Given the description of an element on the screen output the (x, y) to click on. 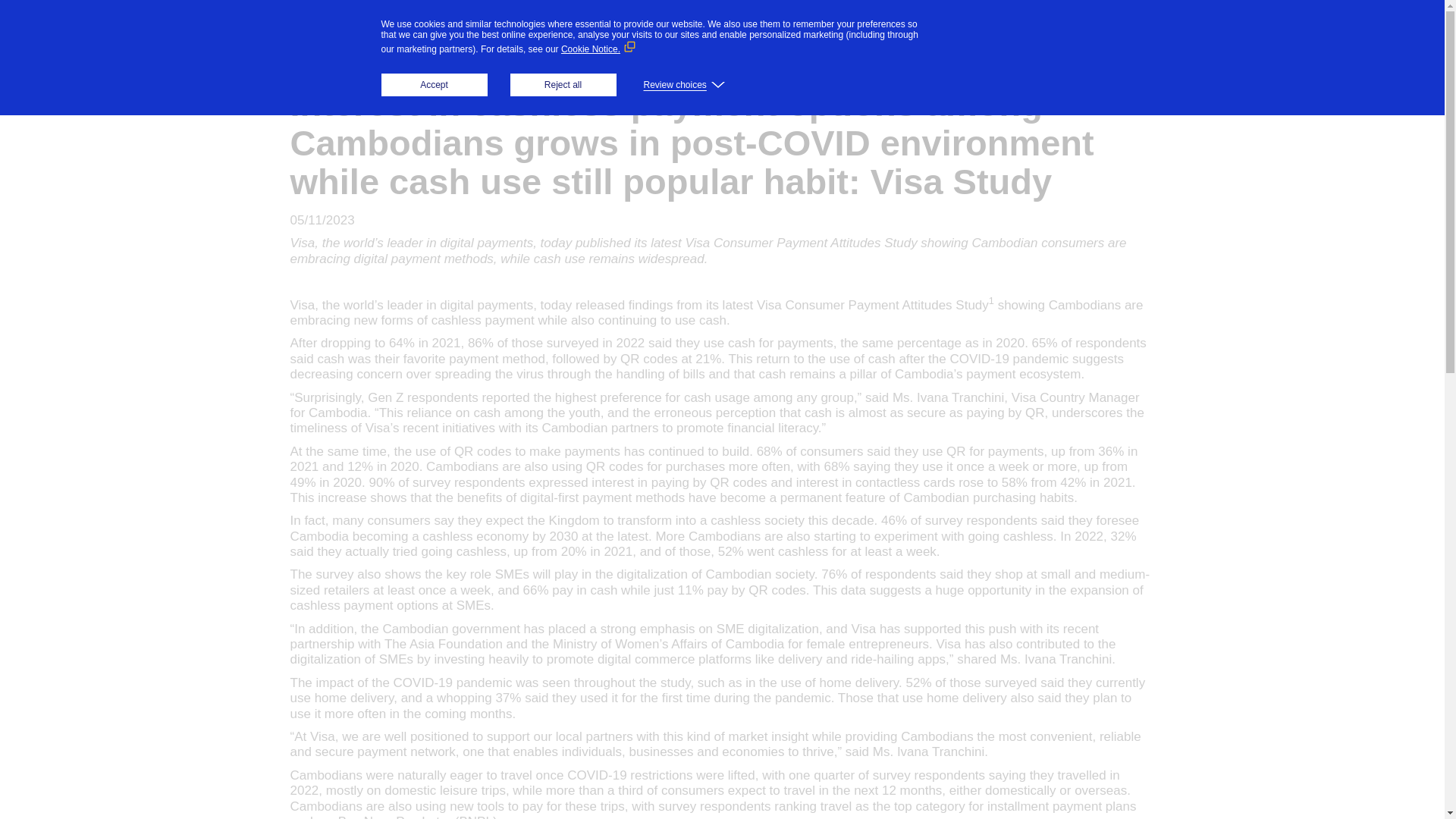
Individuals (558, 41)
